Given the description of an element on the screen output the (x, y) to click on. 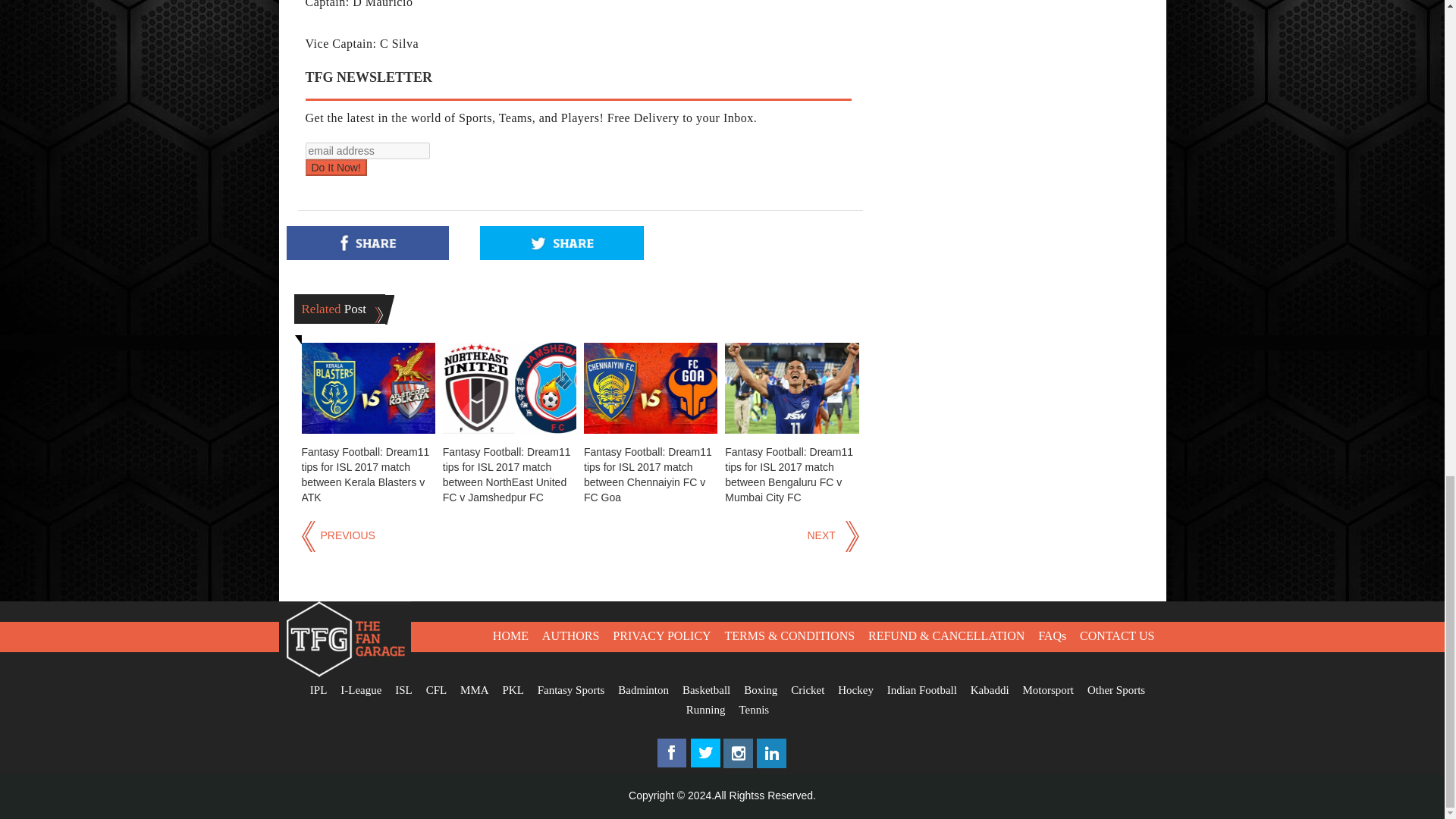
Instagram (738, 765)
Facebook (672, 765)
LinkedIn (772, 765)
Do It Now! (335, 167)
Twitter (705, 765)
